Given the description of an element on the screen output the (x, y) to click on. 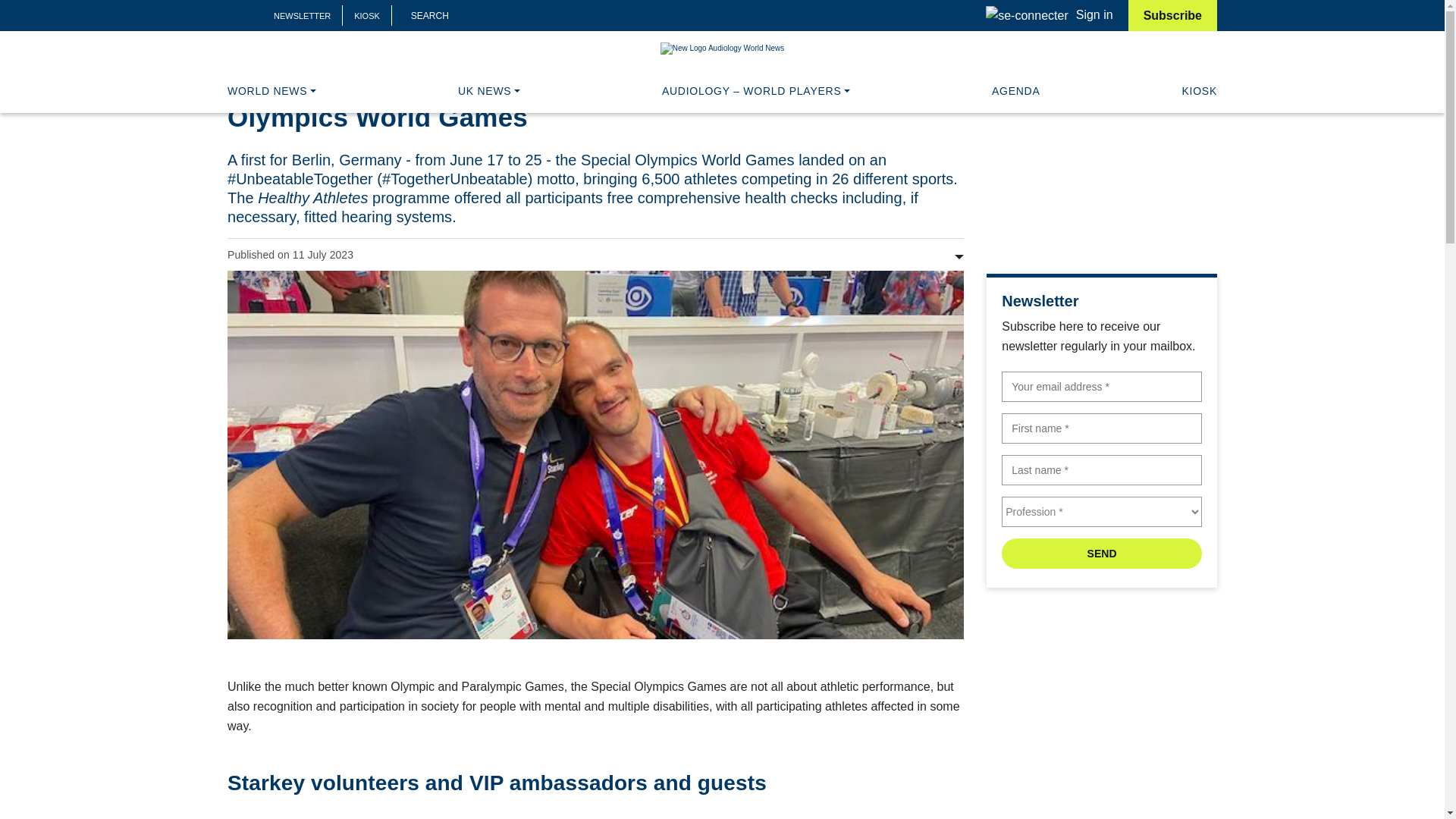
Sign in (1048, 14)
WORLD NEWS (271, 91)
KIOSK (366, 15)
Subscribe (1172, 15)
Send (1101, 553)
NEWSLETTER (301, 15)
